Given the description of an element on the screen output the (x, y) to click on. 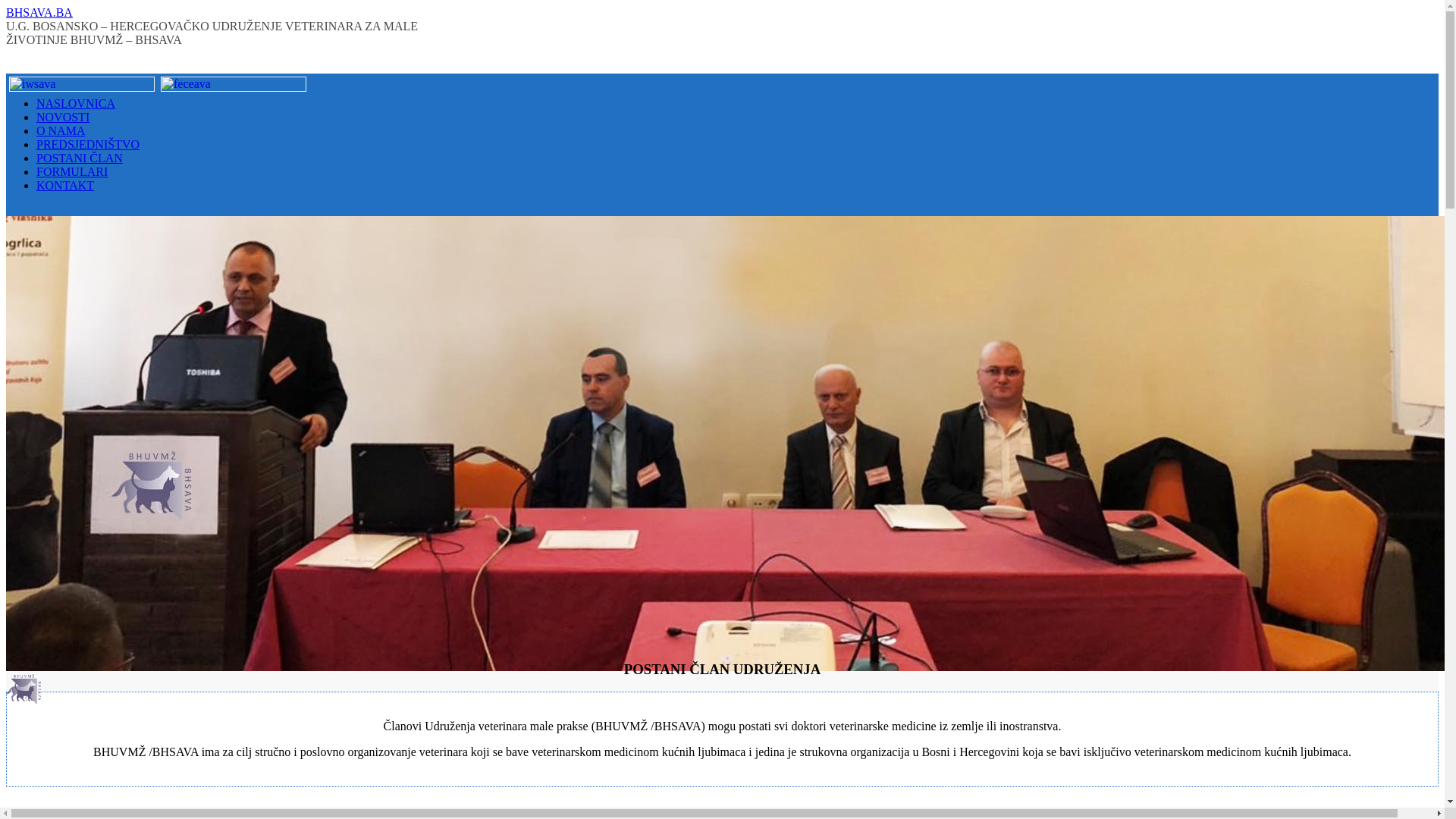
O NAMA Element type: text (60, 130)
BHSAVA.BA Element type: hover (23, 699)
NASLOVNICA Element type: text (75, 103)
FORMULARI Element type: text (71, 171)
KONTAKT Element type: text (65, 184)
BHSAVA.BA Element type: text (39, 12)
NOVOSTI Element type: text (62, 116)
